Given the description of an element on the screen output the (x, y) to click on. 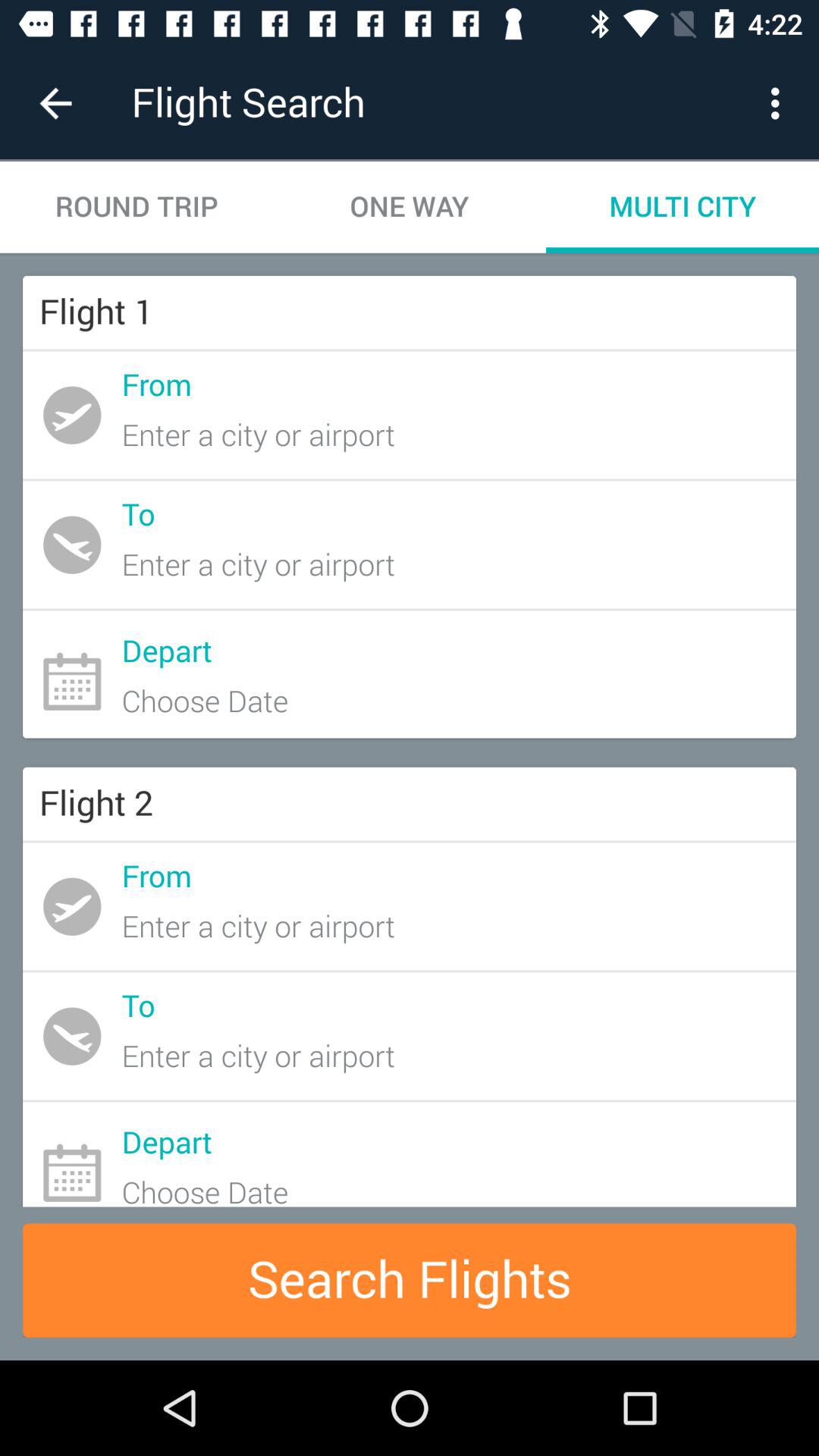
turn on item next to the one way icon (136, 207)
